Given the description of an element on the screen output the (x, y) to click on. 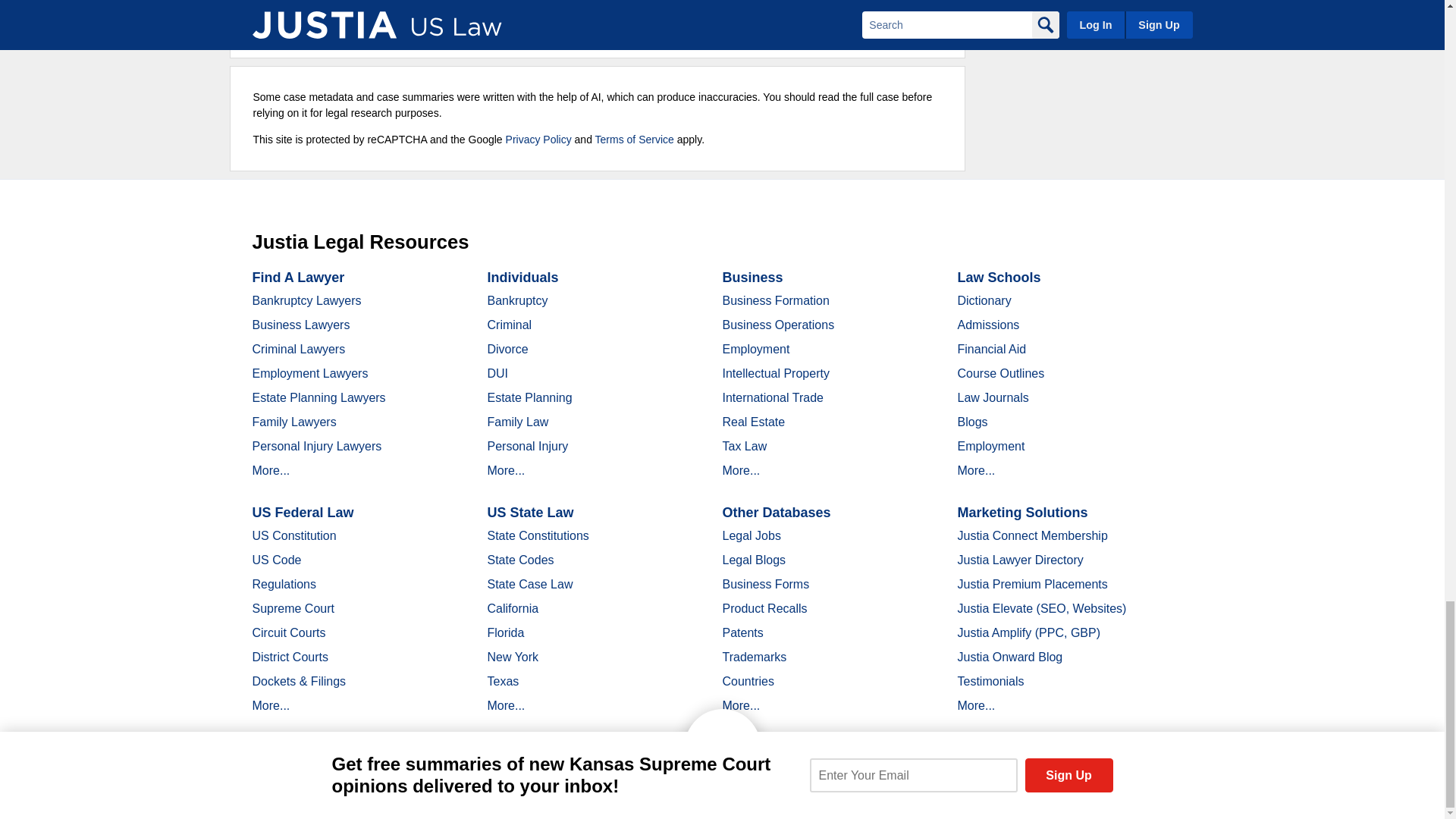
Terms of Service (634, 139)
Privacy Policy (538, 139)
Facebook (345, 791)
Twitter (372, 791)
LinkedIn (398, 791)
